Given the description of an element on the screen output the (x, y) to click on. 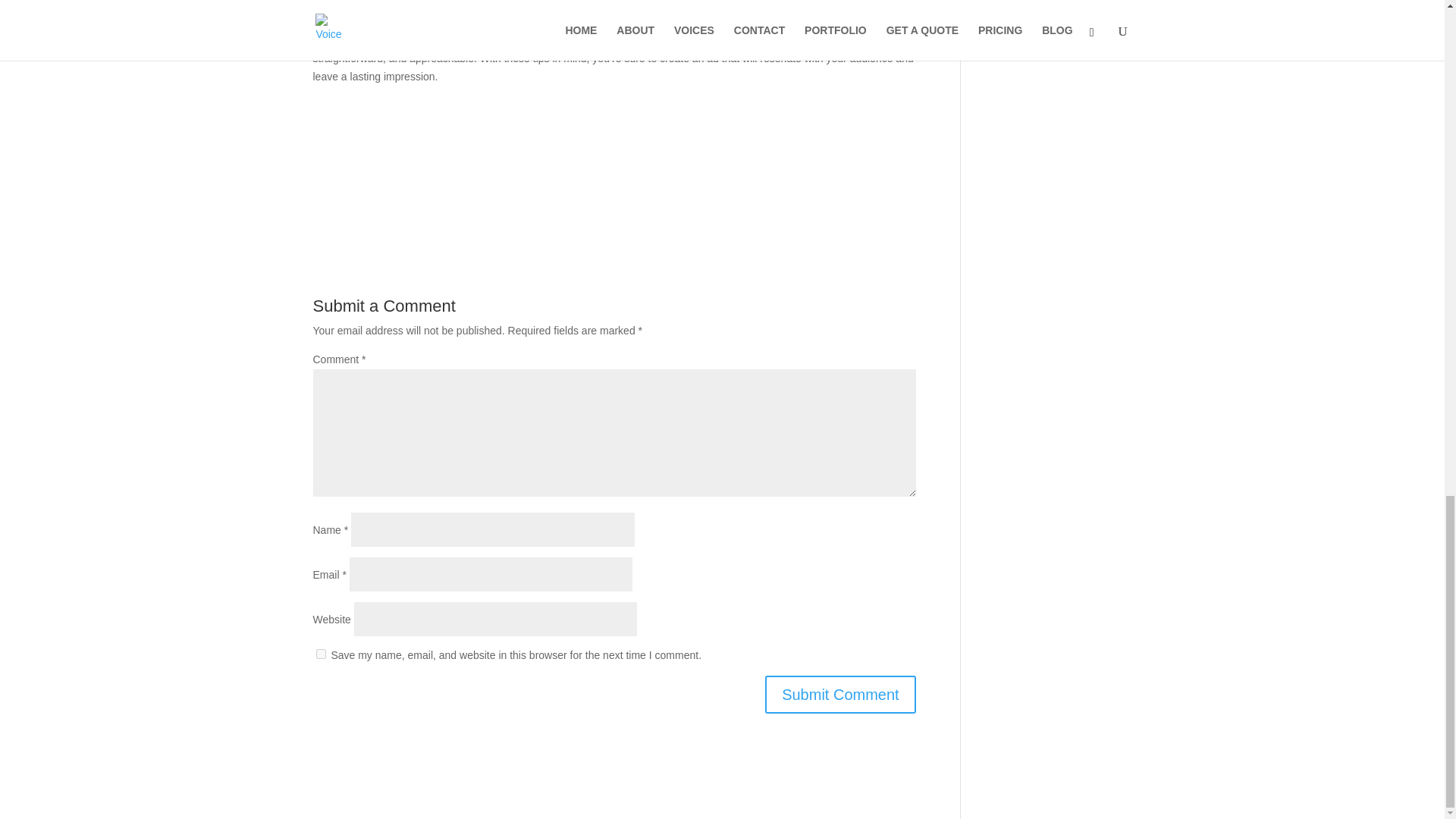
Submit Comment (840, 694)
Submit Comment (840, 694)
yes (319, 654)
